Given the description of an element on the screen output the (x, y) to click on. 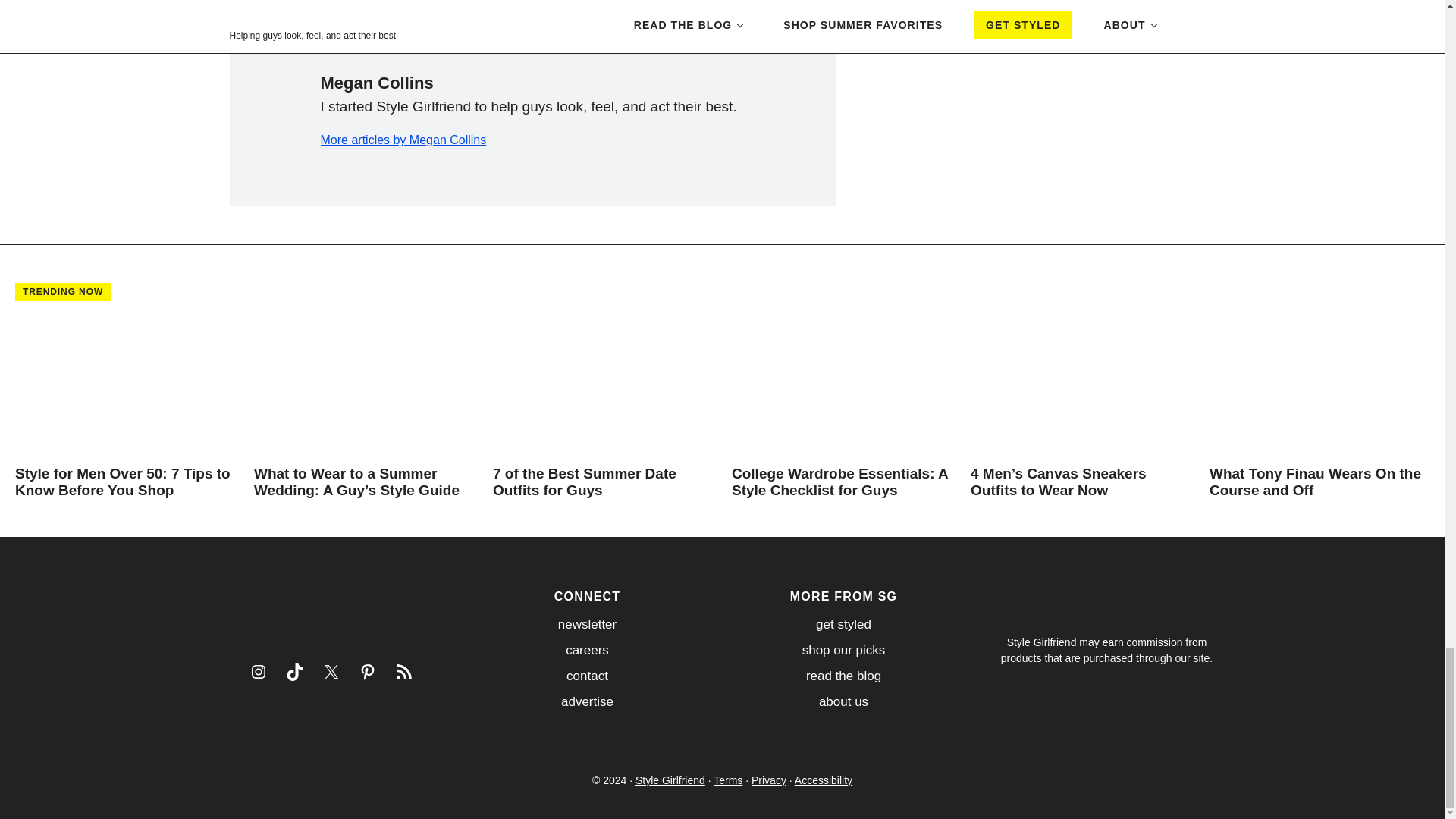
College Wardrobe Essentials: A Style Checklist for Guys (842, 482)
7 of the Best Summer Date Outfits for Guys (603, 482)
Style for Men Over 50: 7 Tips to Know Before You Shop (124, 482)
More articles by Megan Collins (403, 139)
